Given the description of an element on the screen output the (x, y) to click on. 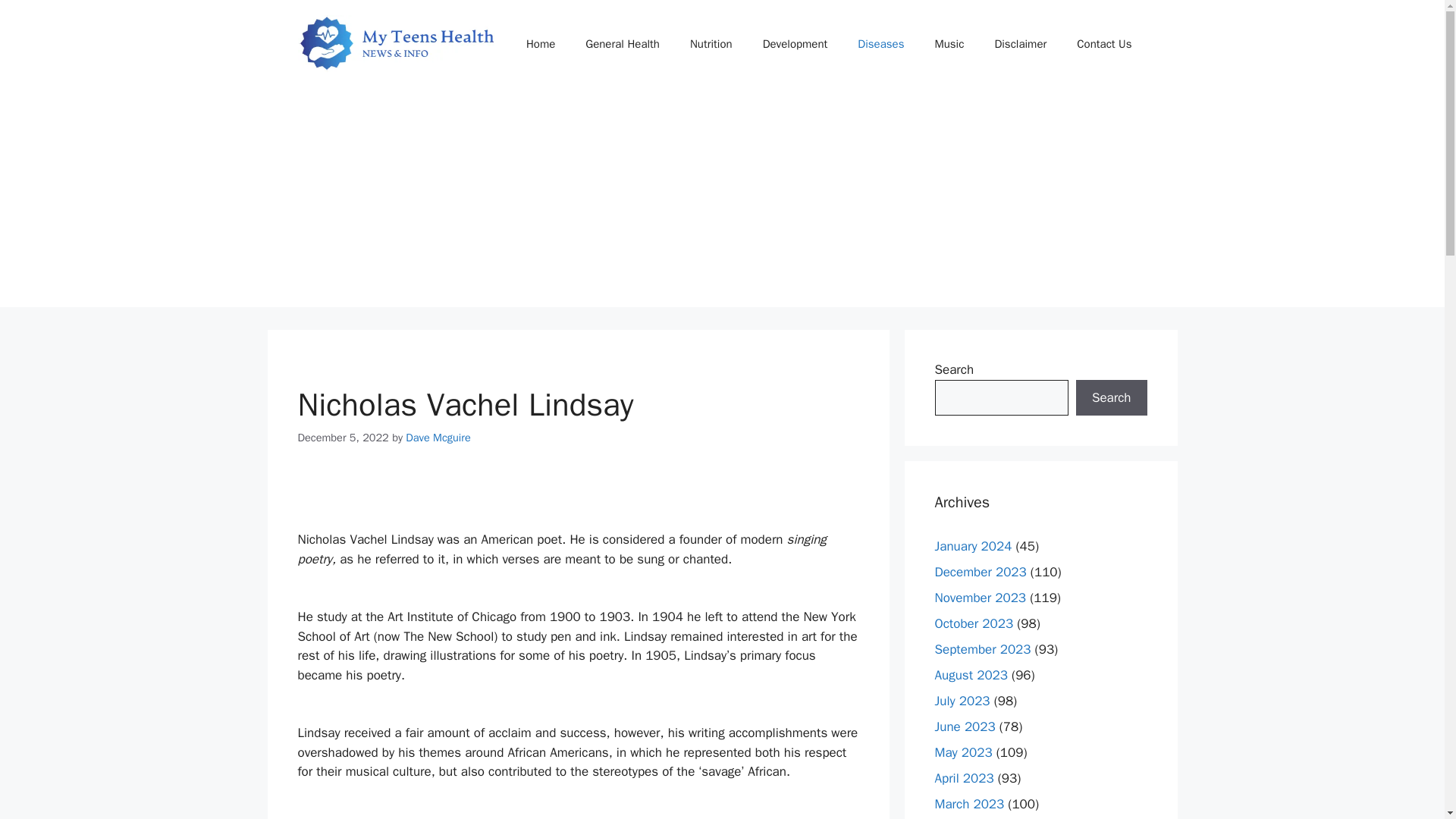
Disclaimer (1019, 43)
Home (540, 43)
June 2023 (964, 726)
August 2023 (970, 675)
Diseases (880, 43)
Nutrition (711, 43)
December 2023 (980, 571)
View all posts by Dave Mcguire (438, 437)
March 2023 (969, 804)
